Given the description of an element on the screen output the (x, y) to click on. 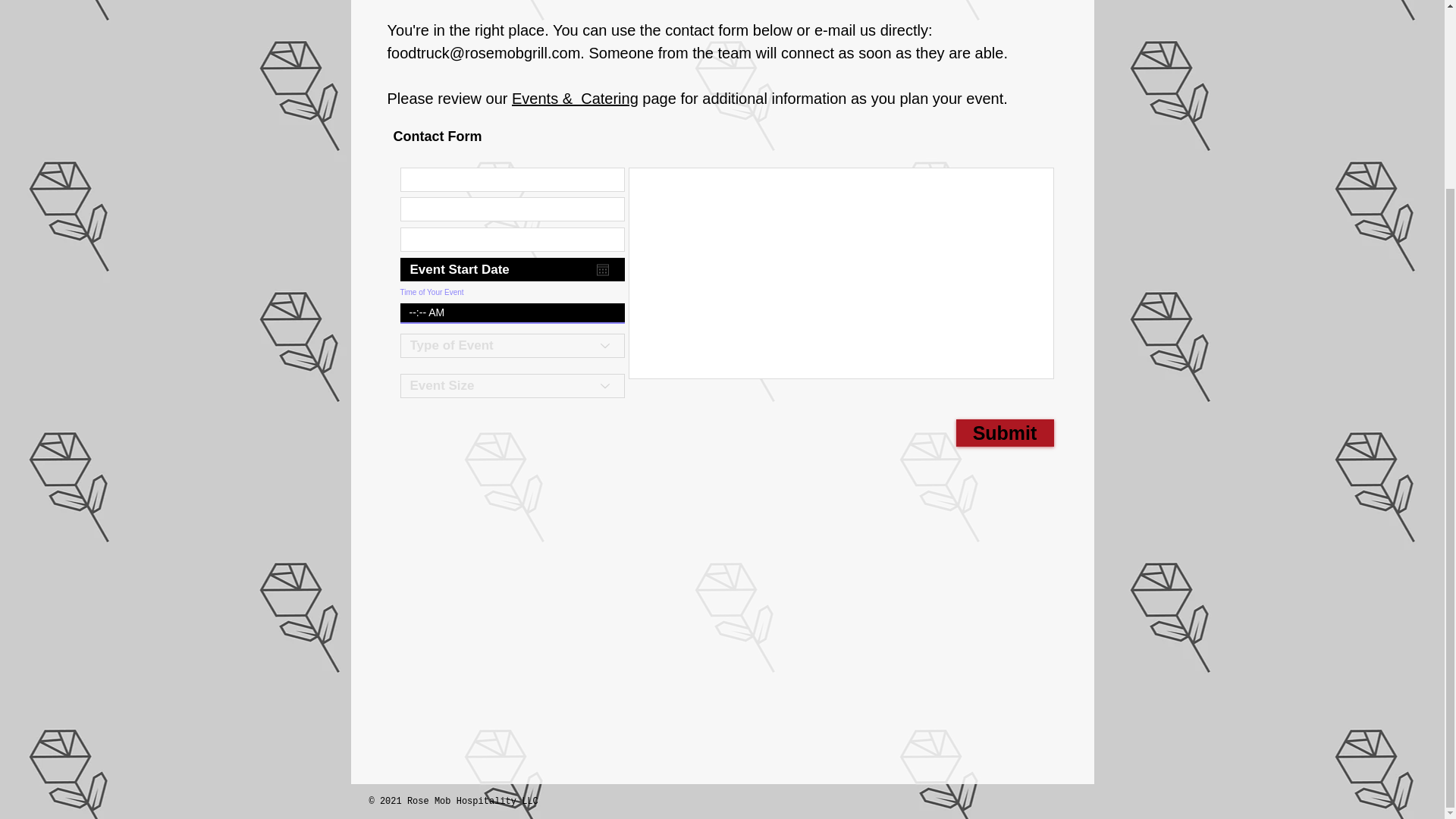
Submit (1003, 432)
--:-- AM (505, 312)
